Given the description of an element on the screen output the (x, y) to click on. 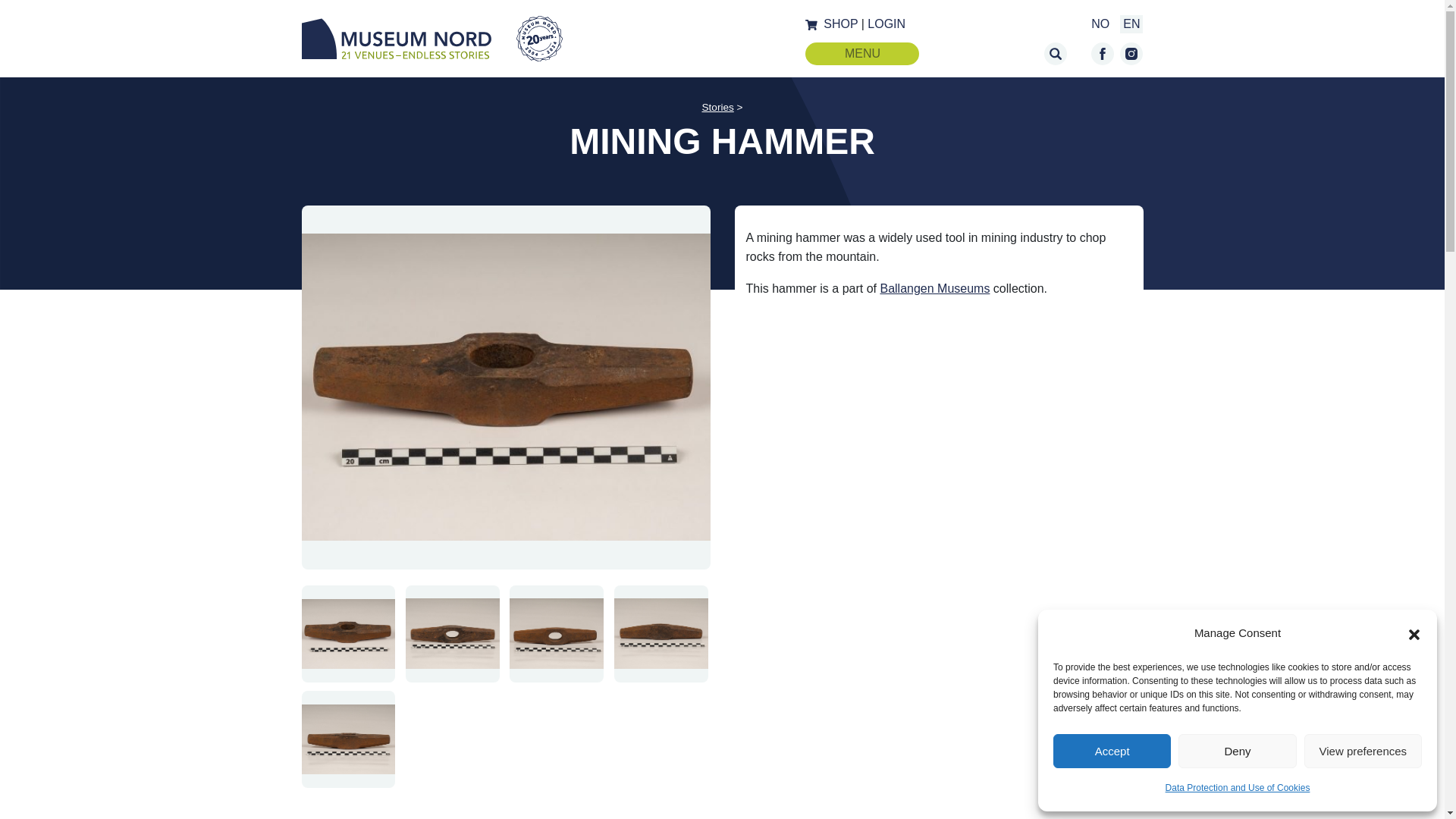
Deny (1236, 750)
EN (1131, 23)
MENU (861, 53)
SHOP (840, 23)
View preferences (1363, 750)
NO (1099, 23)
LOGIN (886, 23)
Data Protection and Use of Cookies (1238, 787)
Accept (1111, 750)
